Given the description of an element on the screen output the (x, y) to click on. 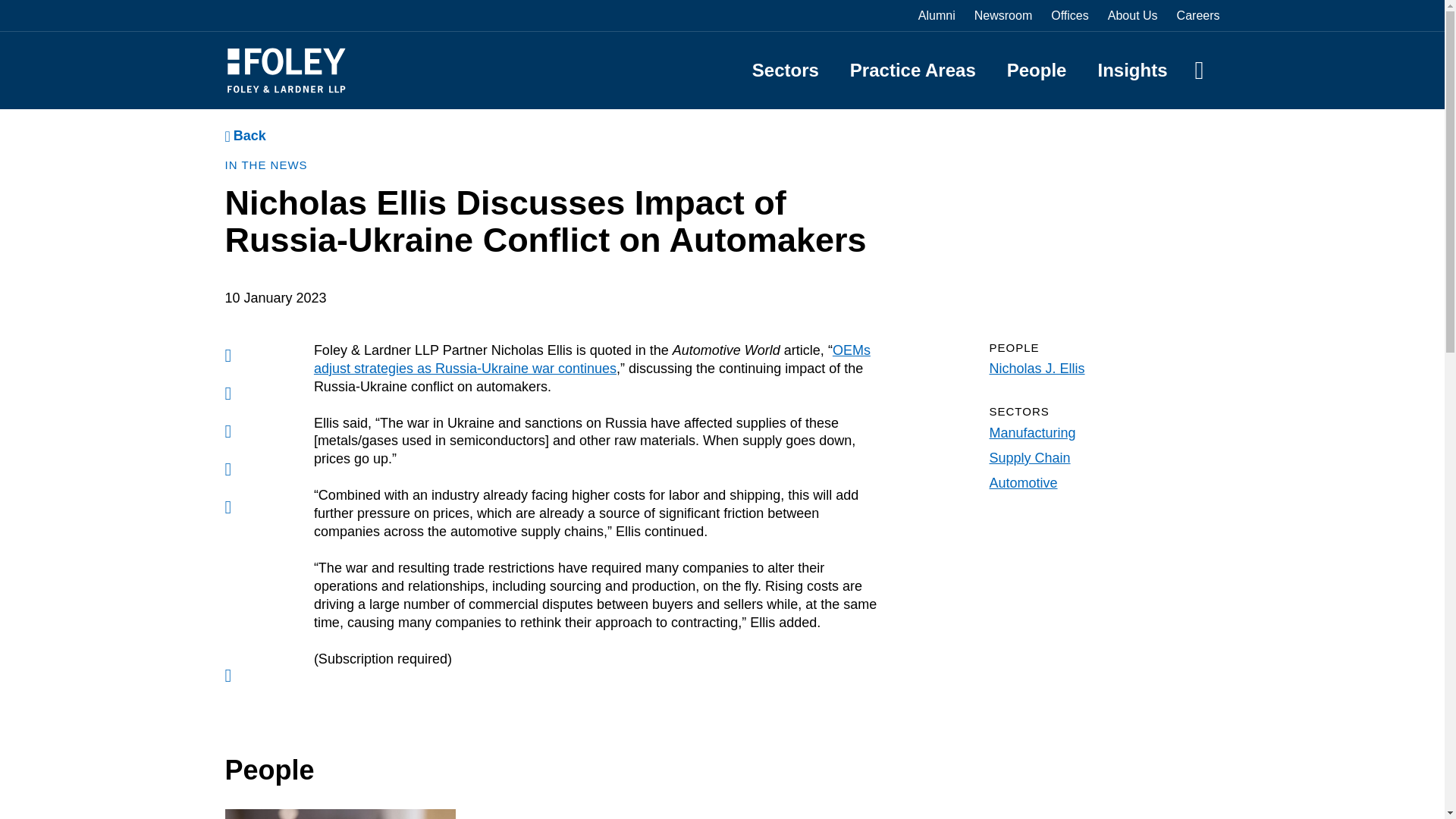
Careers (1198, 15)
Practice Areas (912, 70)
Automotive (1022, 482)
Sectors (785, 70)
Offices (1070, 15)
OEMs adjust strategies as Russia-Ukraine war continues (592, 359)
Alumni (936, 15)
About Us (1132, 15)
Manufacturing (1031, 432)
Supply Chain (1029, 458)
Back (244, 136)
Newsroom (1003, 15)
Insights (1132, 70)
IN THE NEWS (265, 164)
People (1037, 70)
